Given the description of an element on the screen output the (x, y) to click on. 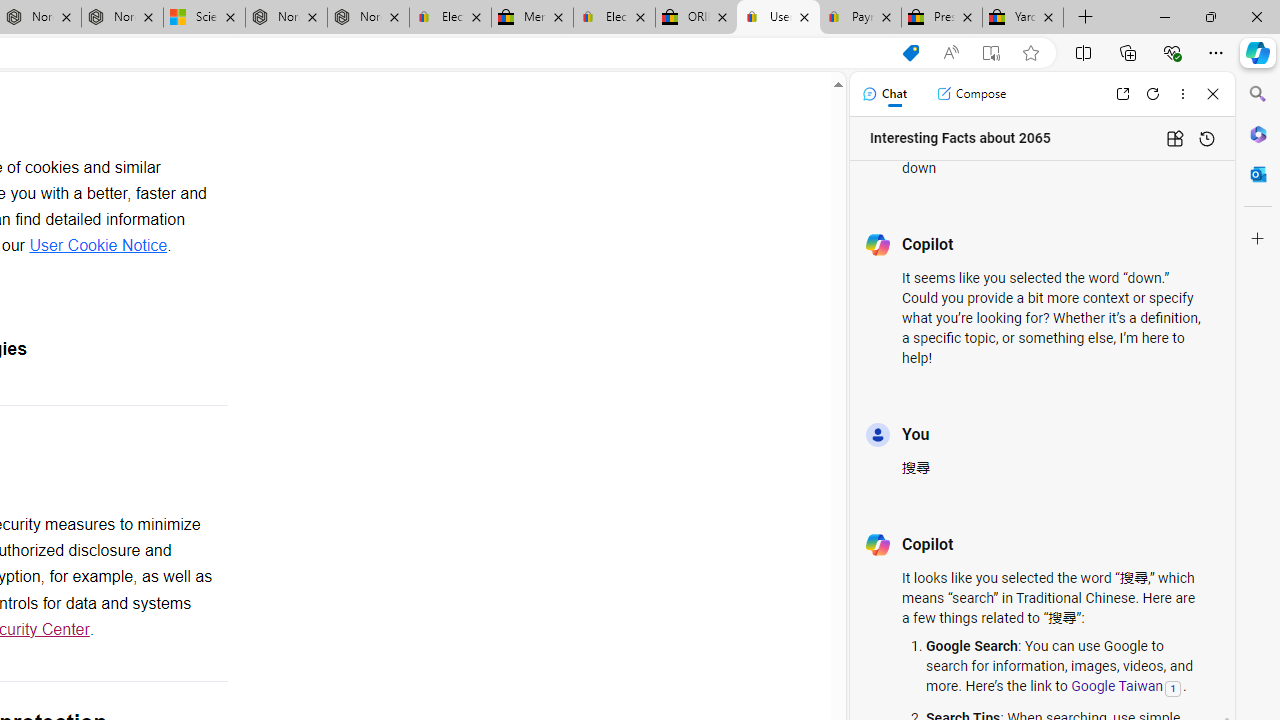
Press Room - eBay Inc. (941, 17)
This site has coupons! Shopping in Microsoft Edge (910, 53)
Payments Terms of Use | eBay.com (860, 17)
Compose (971, 93)
Chat (884, 93)
User Cookie Notice (98, 245)
User Privacy Notice | eBay (778, 17)
